Given the description of an element on the screen output the (x, y) to click on. 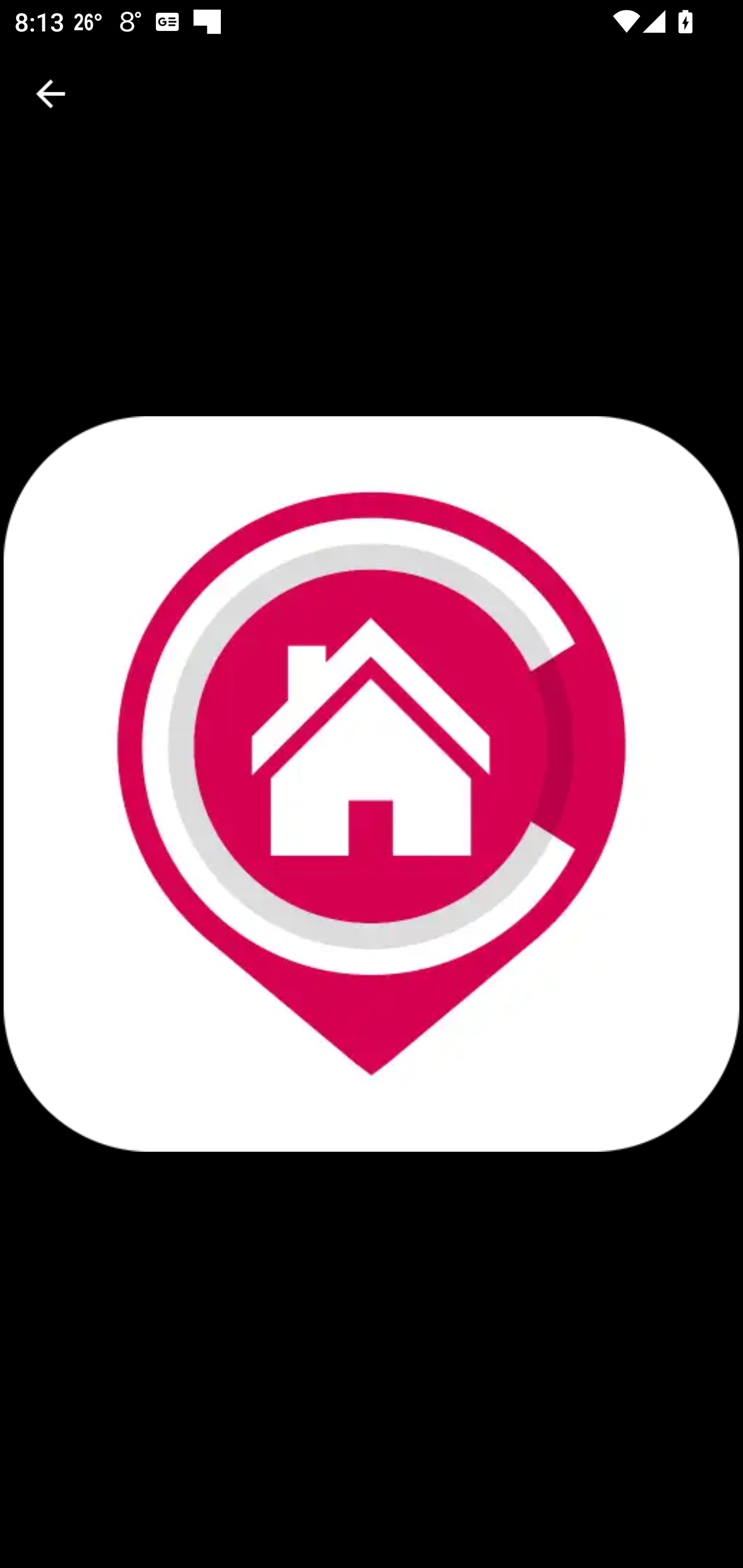
Back (50, 93)
